Given the description of an element on the screen output the (x, y) to click on. 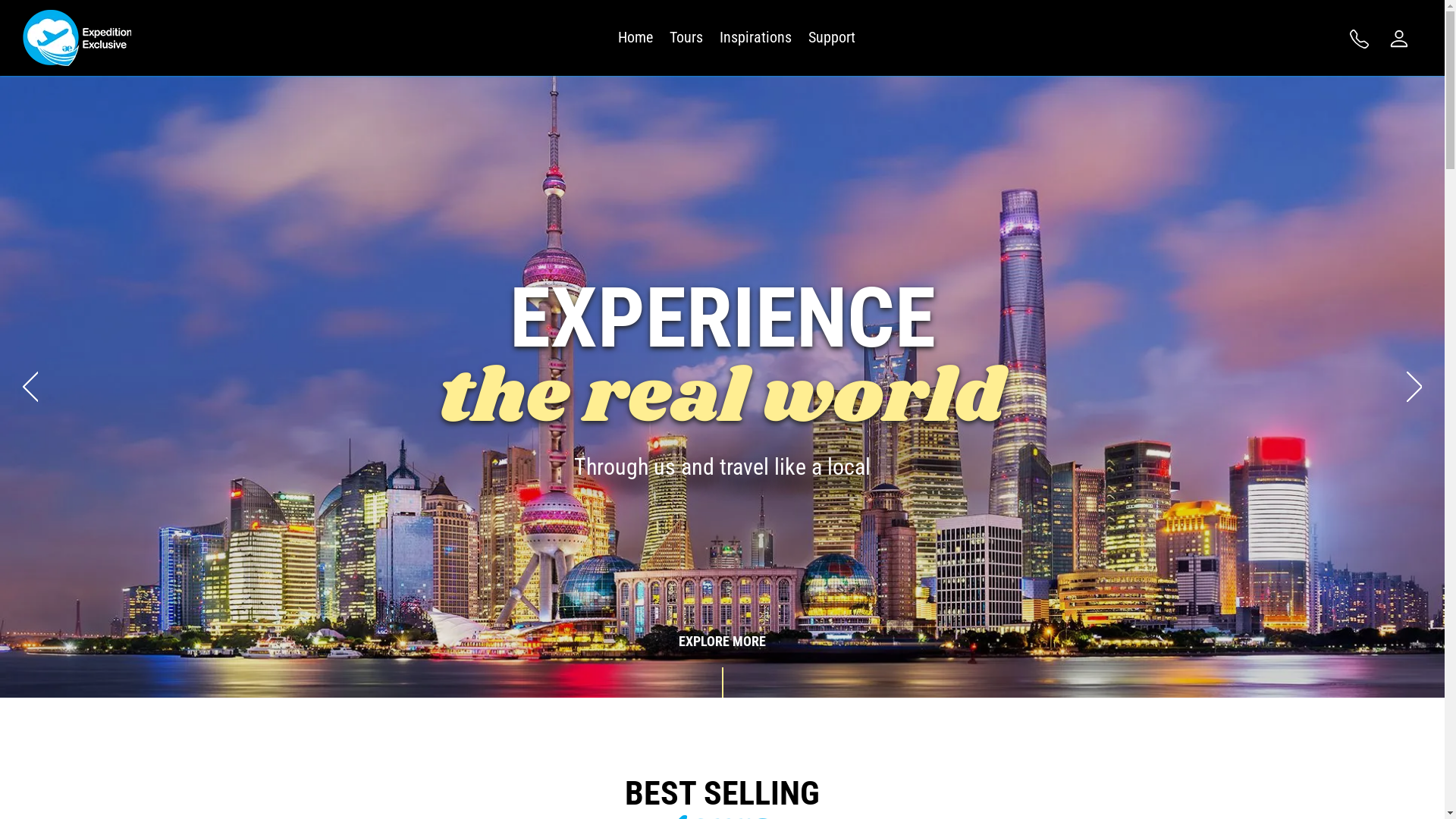
EXPLORE MORE Element type: text (879, 665)
Inspirations Element type: text (755, 37)
Home Element type: text (635, 37)
Tours Element type: text (685, 37)
1300 738 196 Element type: text (1360, 37)
Previous Element type: text (29, 386)
Support Element type: text (831, 37)
Next Element type: text (1413, 386)
Login Element type: text (1400, 37)
Expedition Exclusive Element type: hover (76, 37)
